Given the description of an element on the screen output the (x, y) to click on. 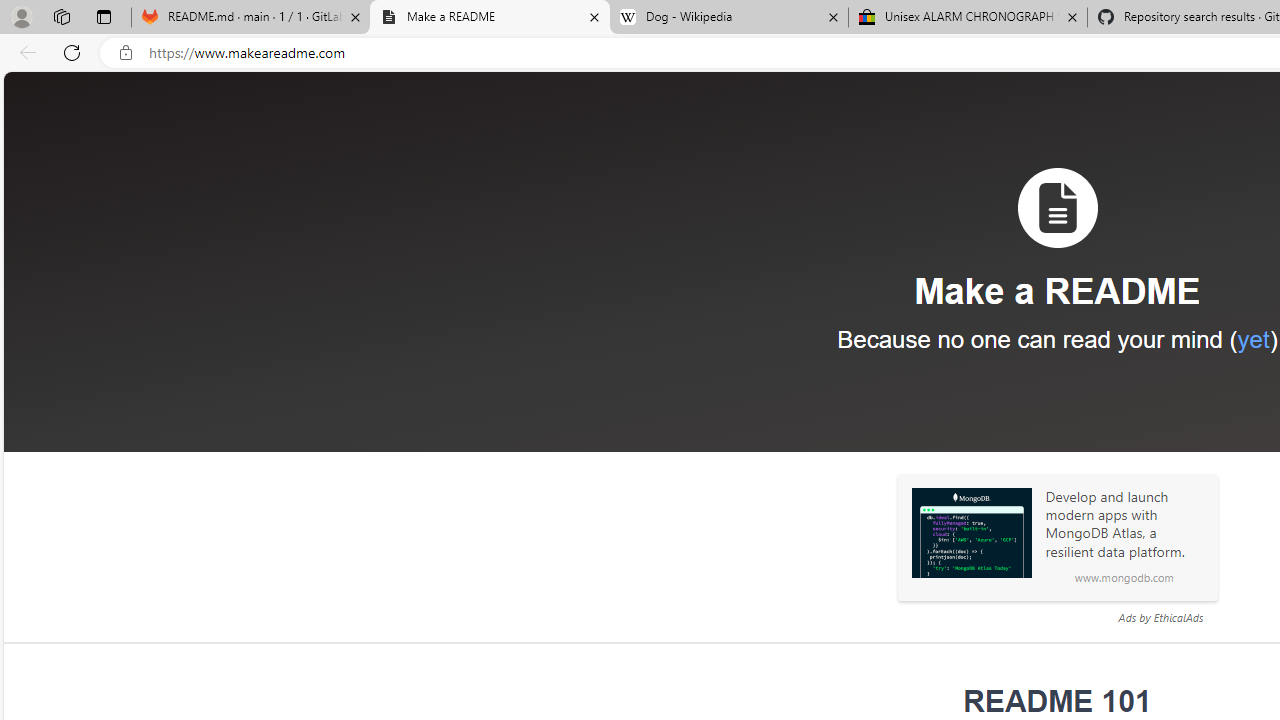
Anchor (950, 701)
